Given the description of an element on the screen output the (x, y) to click on. 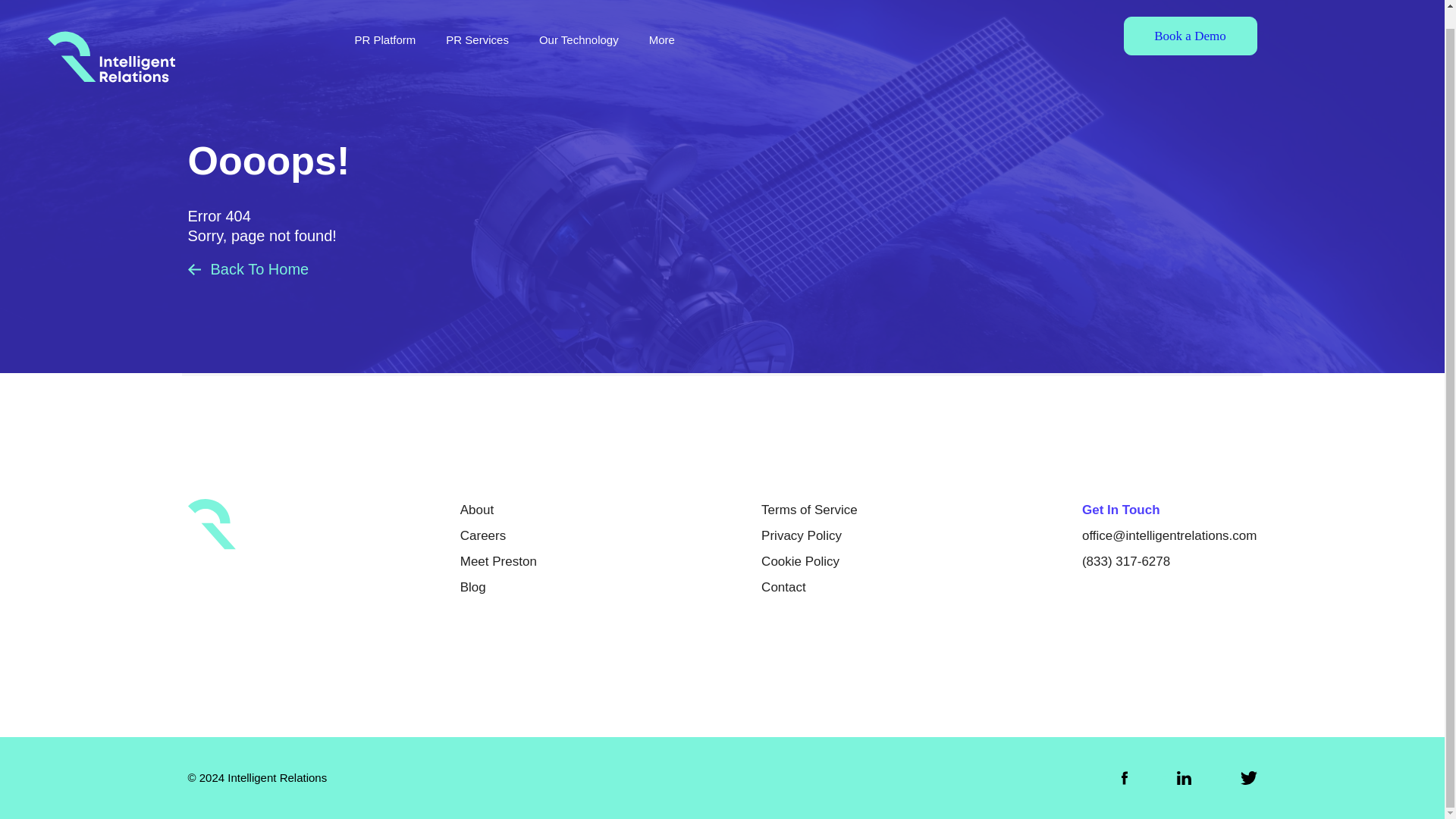
PR Platform (385, 21)
About (476, 509)
Contact (783, 586)
PR Services (476, 21)
Our Technology (578, 21)
Blog (473, 586)
Meet Preston (498, 561)
Cookie Policy (800, 561)
Privacy Policy (801, 535)
Get In Touch (1120, 509)
More (662, 21)
Book a Demo (1190, 18)
Terms of Service (809, 509)
Back To Home (247, 269)
Careers (482, 535)
